Given the description of an element on the screen output the (x, y) to click on. 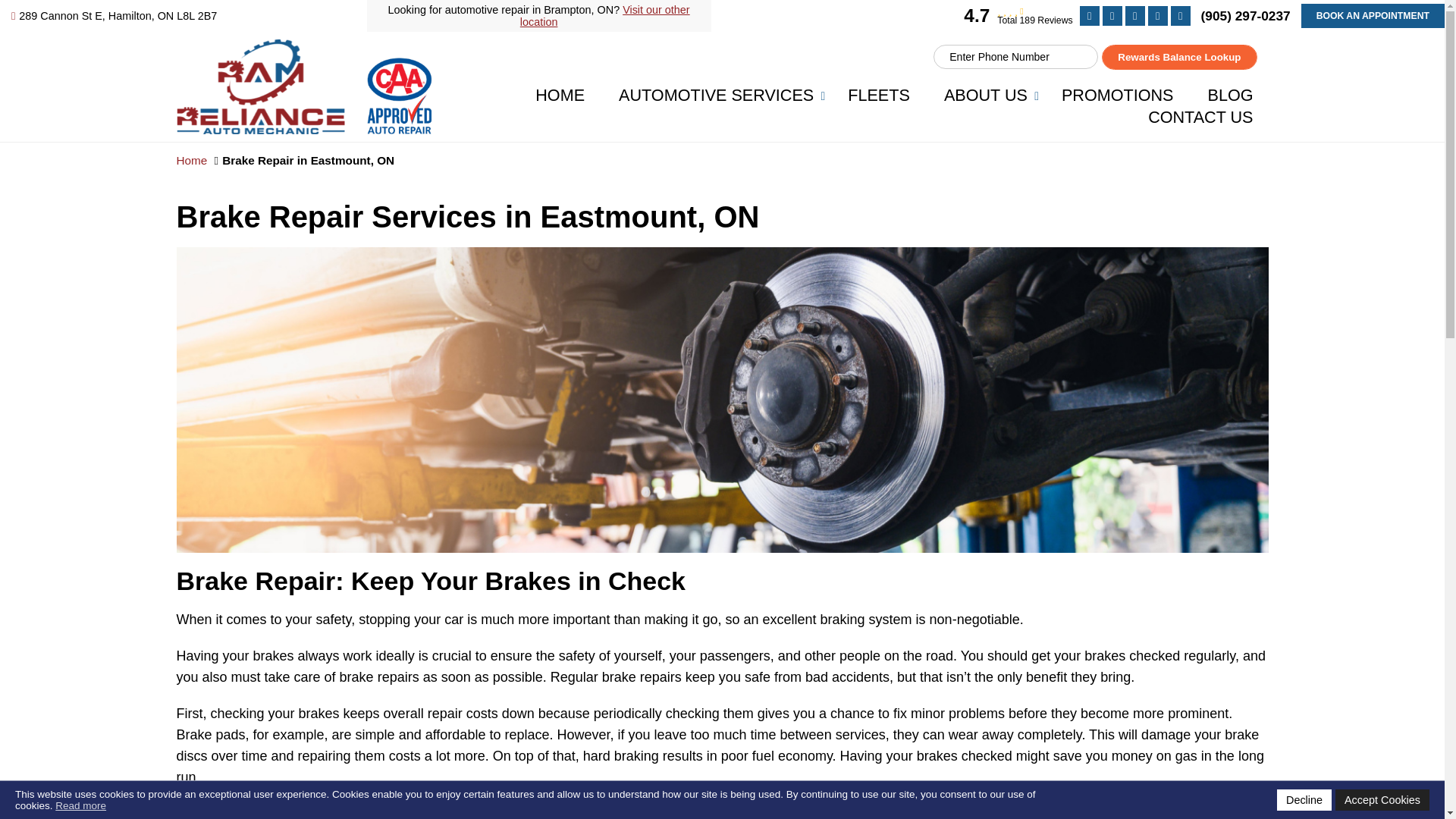
BOOK AN APPOINTMENT (1372, 15)
HOME (559, 95)
Go to Reliance Auto Mechanic Hamilton. (191, 160)
Read more (80, 805)
AUTOMOTIVE SERVICES (716, 95)
Accept Cookies (1382, 799)
Rewards Balance Lookup (1179, 57)
Decline (1304, 799)
Visit our other location (604, 15)
Reliance Auto Mechanic Hamilton (304, 49)
